Given the description of an element on the screen output the (x, y) to click on. 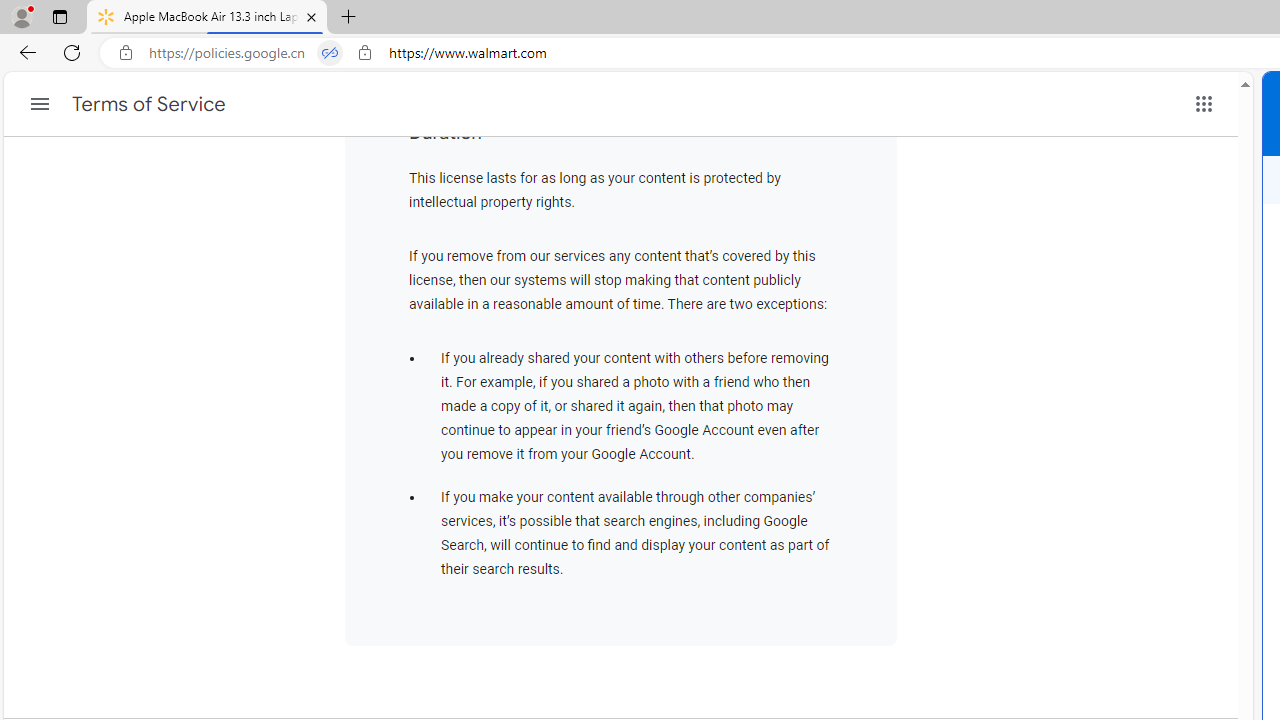
Tabs in split screen (330, 53)
